Given the description of an element on the screen output the (x, y) to click on. 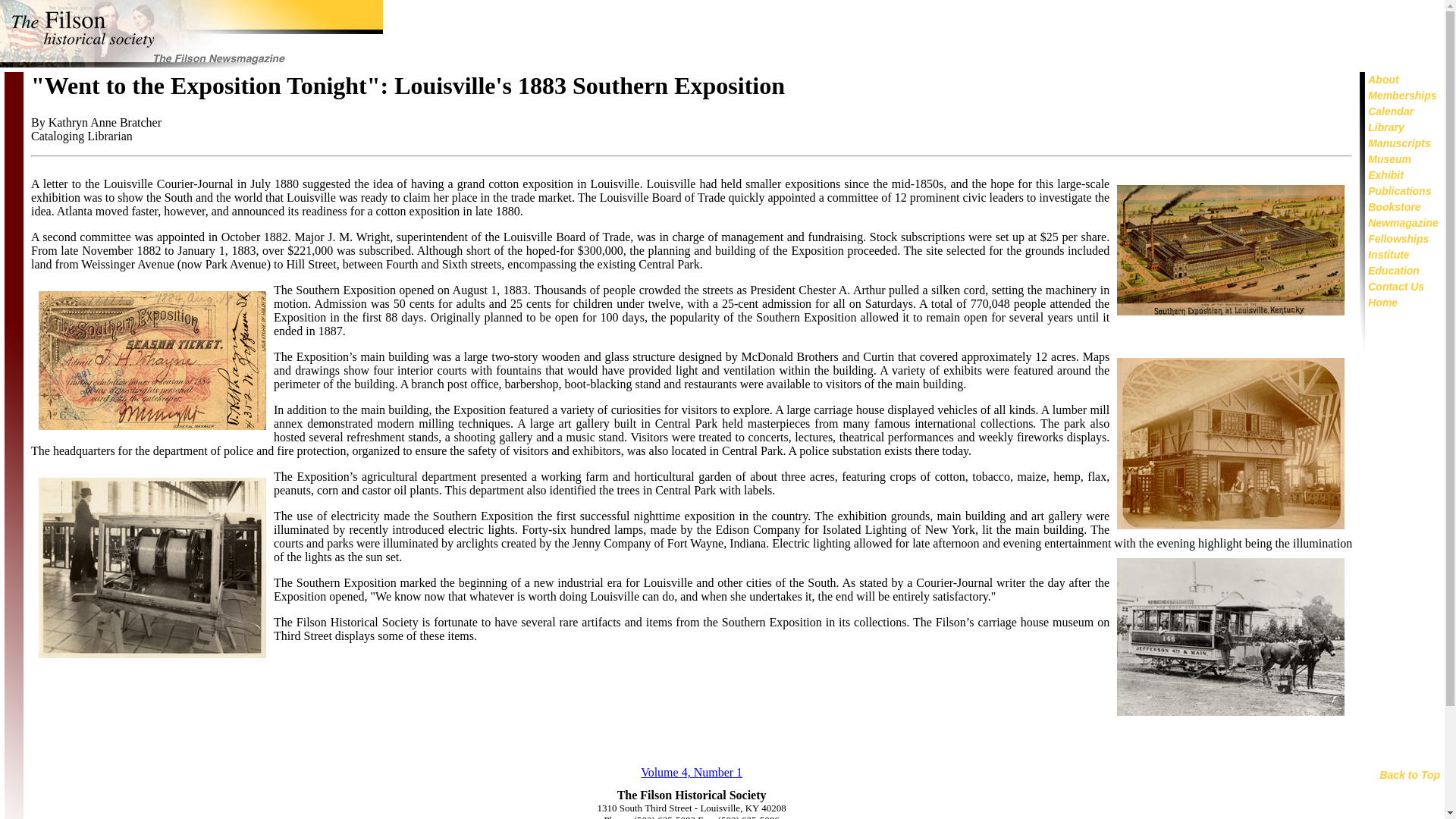
Library (1385, 127)
Calendar (1390, 111)
Memberships (1401, 95)
Institute (1388, 254)
Home (1382, 302)
Back to Top (1408, 775)
Fellowships (1398, 238)
Manuscripts (1398, 143)
Volume 4, Number 1 (691, 771)
Publications (1399, 191)
